Given the description of an element on the screen output the (x, y) to click on. 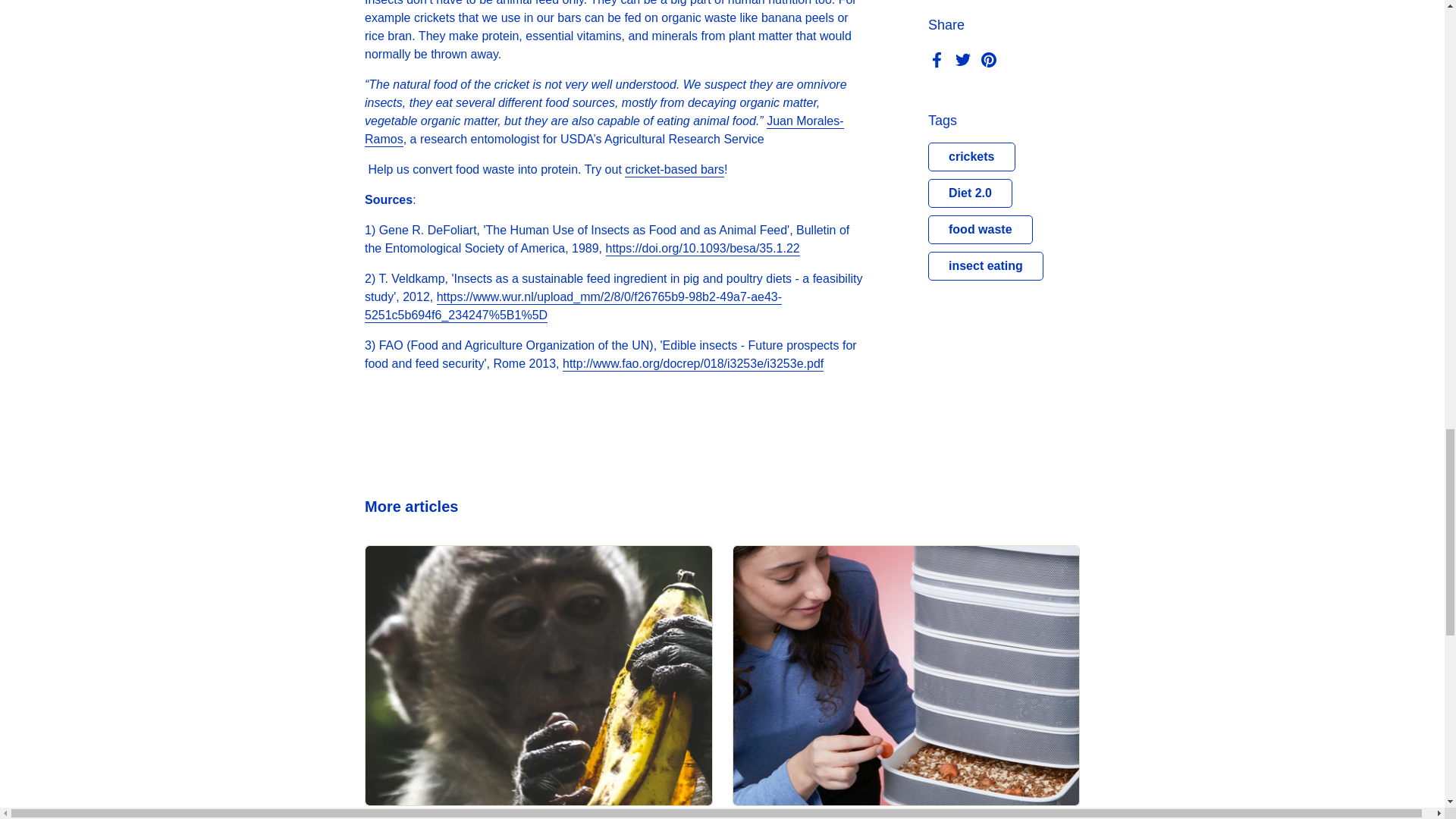
This Works Better Than Counting Calories (539, 675)
Big News From the World of Insect Eating, October (906, 675)
